Given the description of an element on the screen output the (x, y) to click on. 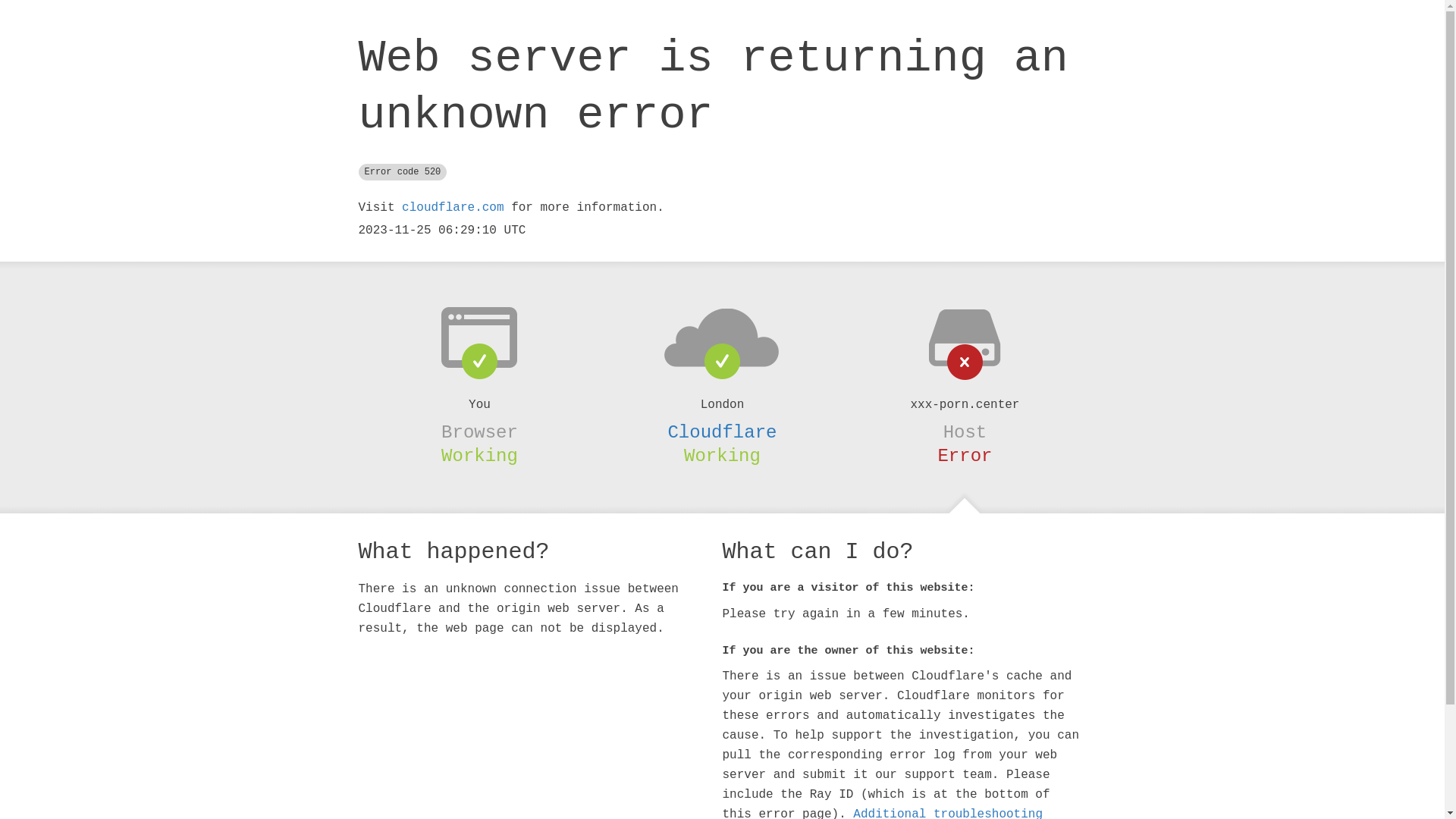
cloudflare.com Element type: text (452, 207)
Cloudflare Element type: text (721, 432)
